Given the description of an element on the screen output the (x, y) to click on. 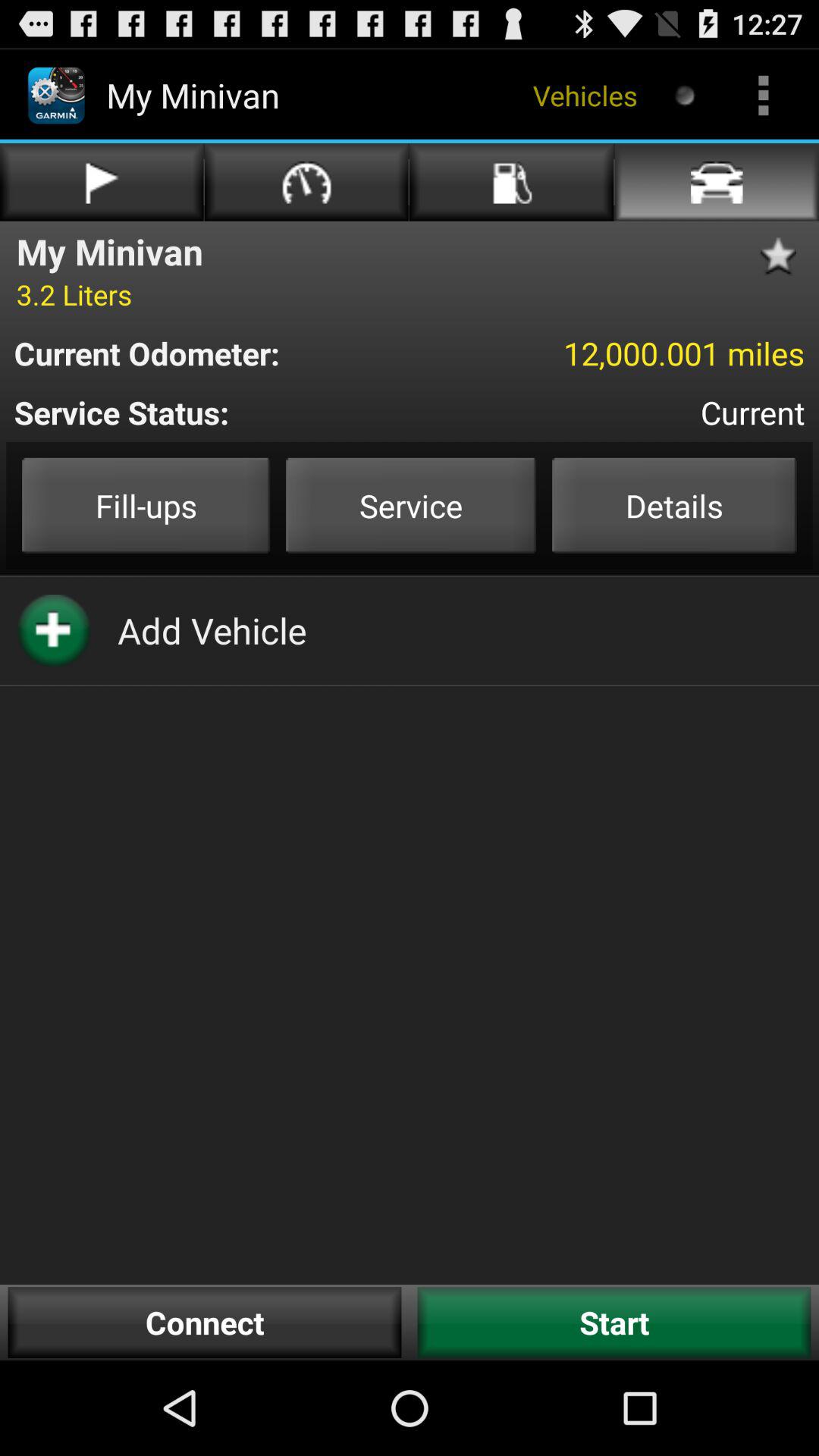
turn off the icon next to the 12 000 001 app (217, 352)
